Given the description of an element on the screen output the (x, y) to click on. 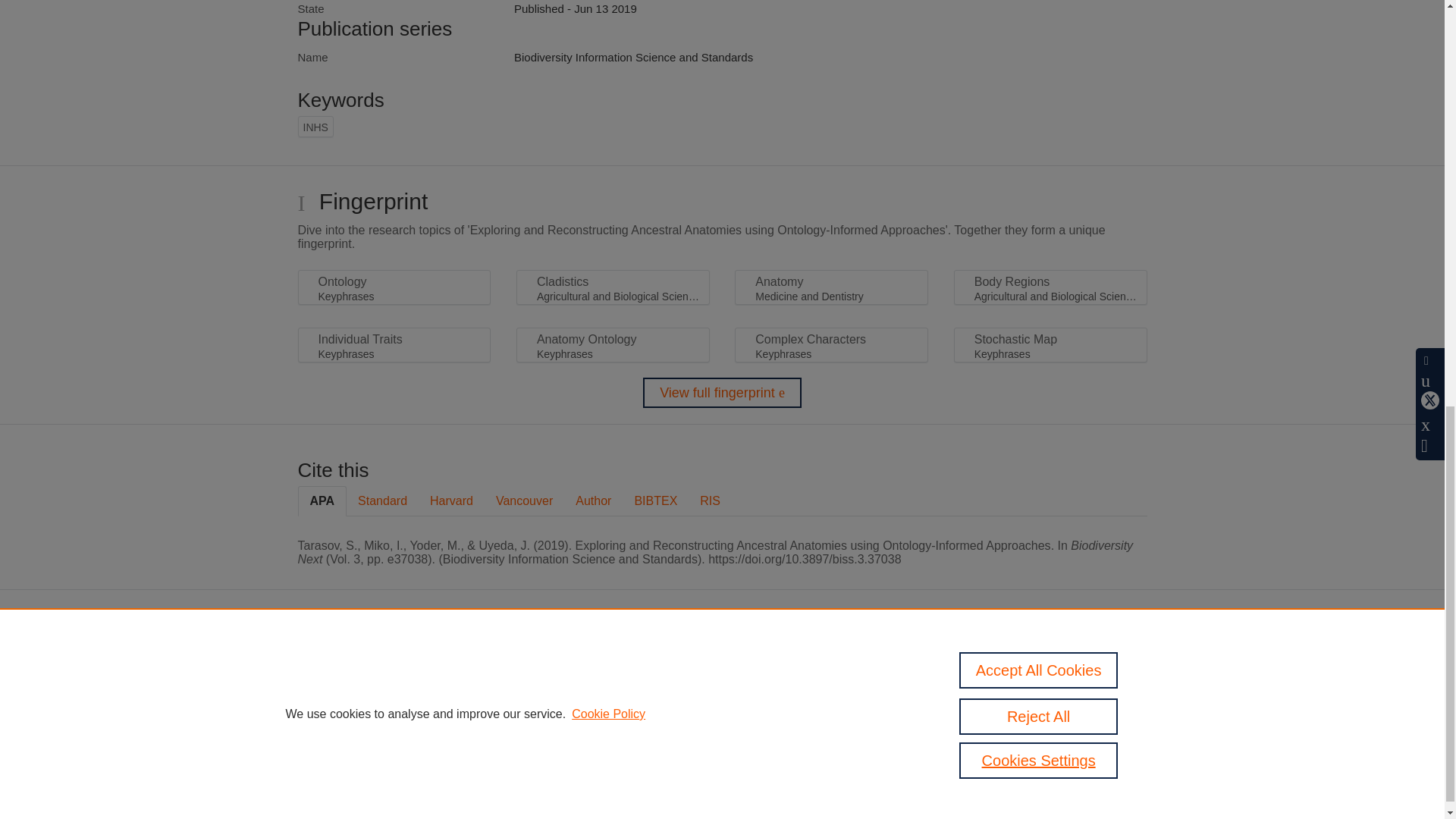
Pure (620, 665)
Scopus (652, 665)
View full fingerprint (722, 392)
